Given the description of an element on the screen output the (x, y) to click on. 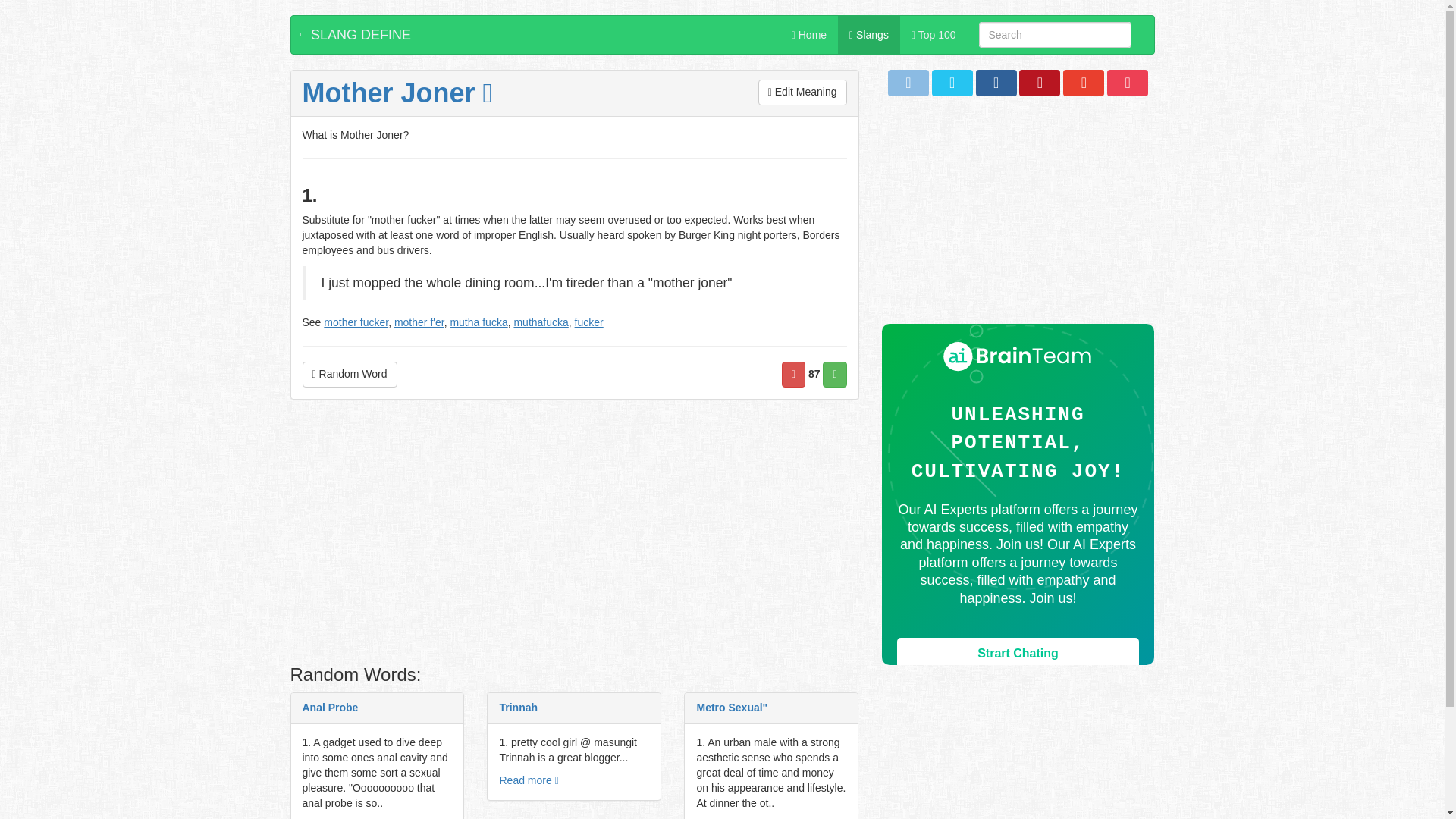
Top 100 (933, 34)
Advertisement (574, 535)
SLANG DEFINE (357, 34)
Random Word (348, 374)
Edit Meaning (802, 92)
Advertisement (1017, 217)
Metro Sexual" (731, 707)
Read more (528, 779)
Anal Probe (329, 707)
Home (809, 34)
Trinnah (518, 707)
Mother Joner (396, 92)
Slangs (868, 34)
Strart Chating (1017, 654)
